Given the description of an element on the screen output the (x, y) to click on. 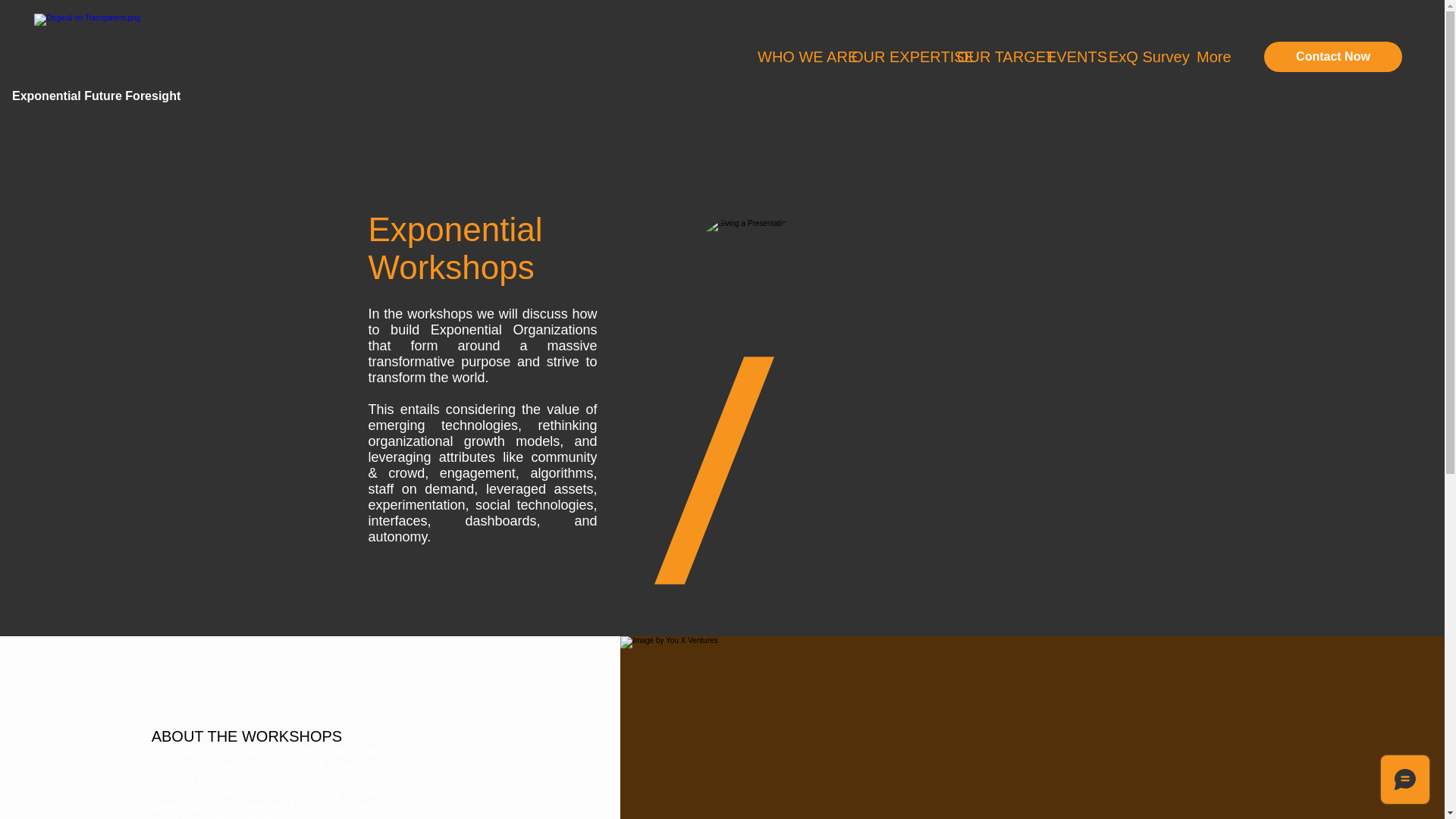
ExQ Survey (1141, 56)
Contact Now (1332, 56)
OUR TARGET (989, 56)
EVENTS (1066, 56)
OUR EXPERTISE (892, 56)
WHO WE ARE (792, 56)
